Given the description of an element on the screen output the (x, y) to click on. 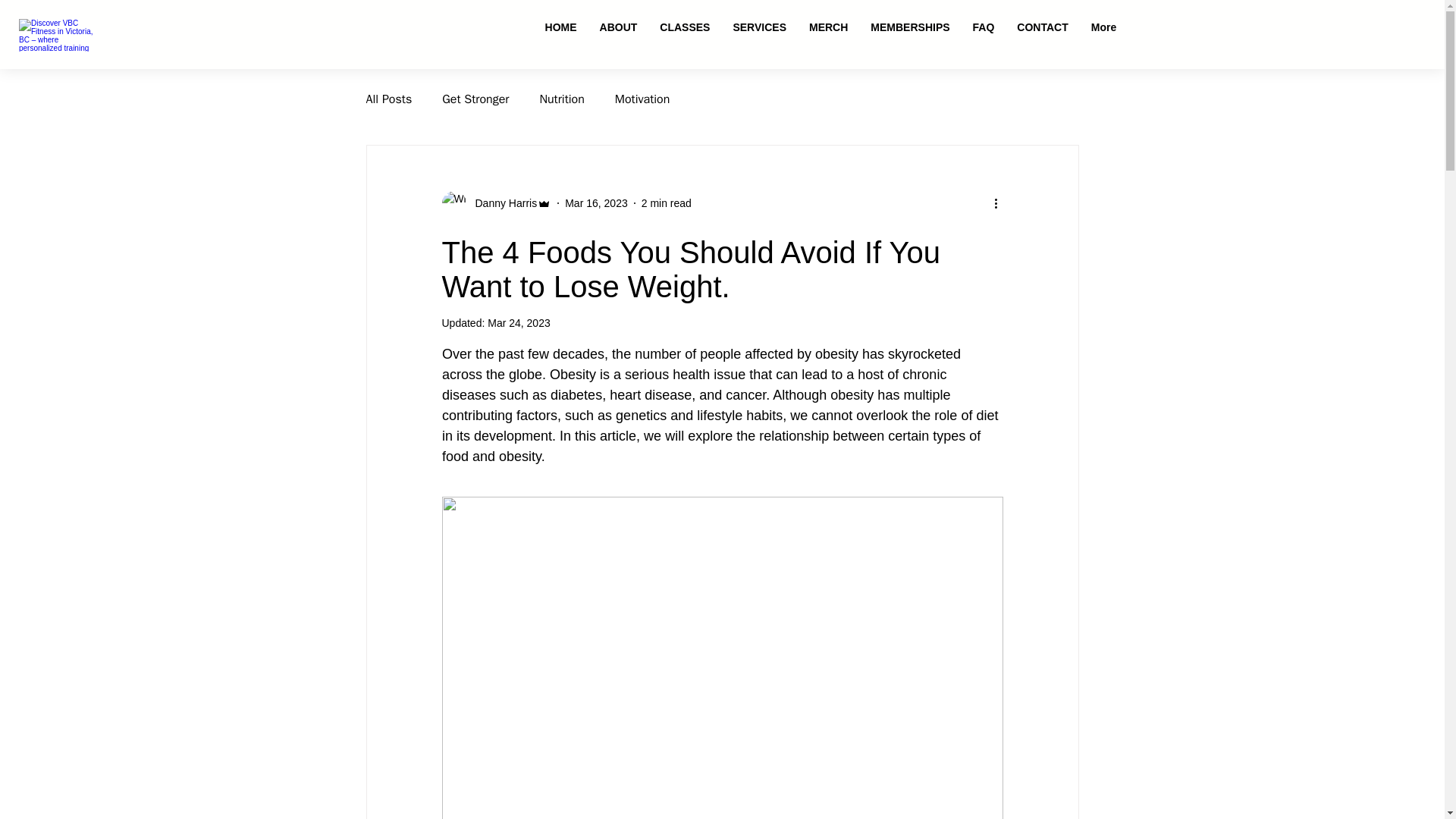
Nutrition (560, 98)
CONTACT (1042, 28)
Danny Harris (496, 202)
Mar 24, 2023 (518, 322)
HOME (561, 28)
ABOUT (618, 28)
All Posts (388, 98)
MERCH (828, 28)
FAQ (983, 28)
Mar 16, 2023 (595, 203)
